Given the description of an element on the screen output the (x, y) to click on. 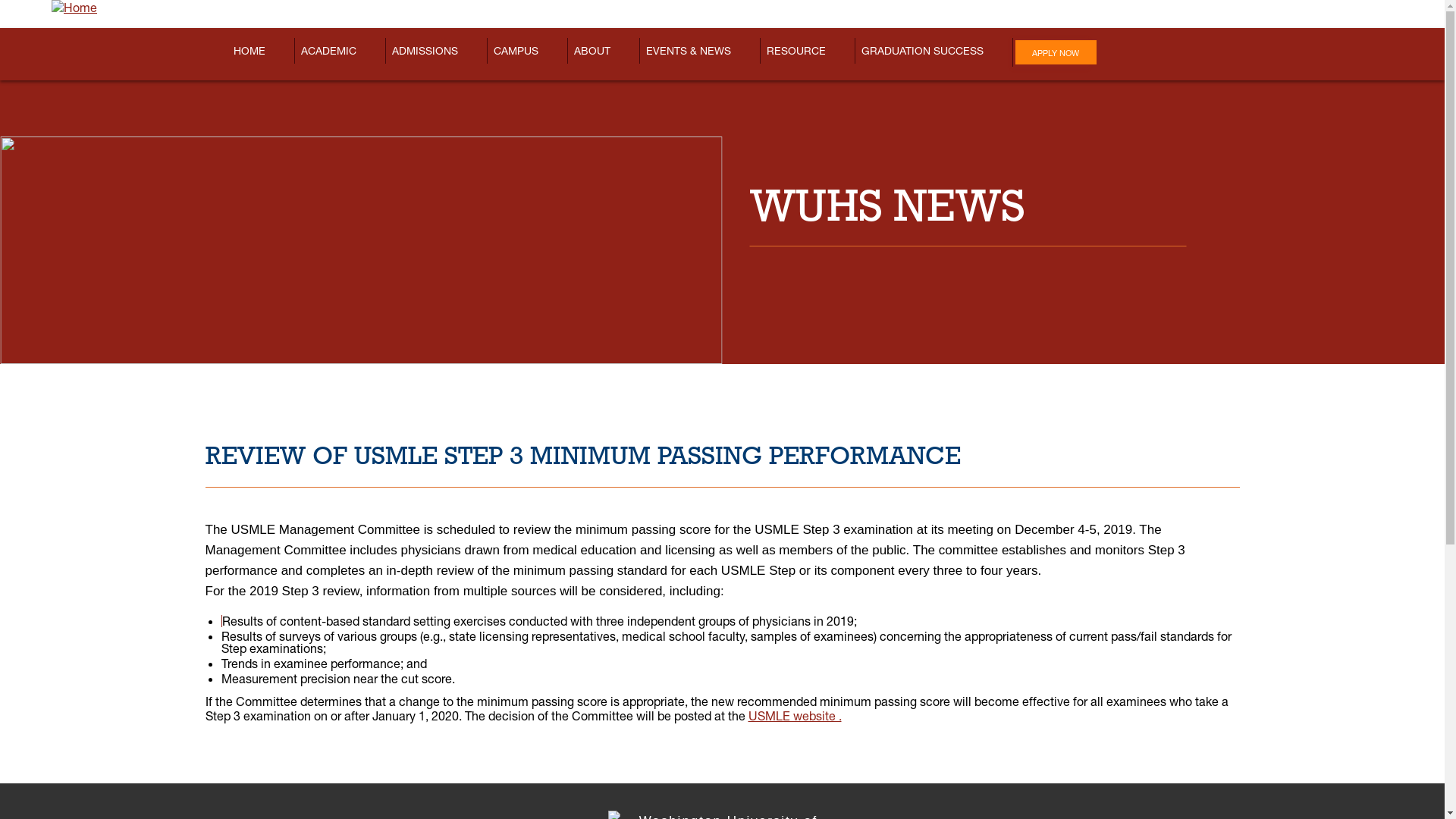
RESOURCE Element type: text (795, 50)
APPLY NOW Element type: text (1054, 52)
ABOUT Element type: text (592, 50)
USMLE website . Element type: text (793, 715)
HOME Element type: text (248, 50)
CAMPUS Element type: text (515, 50)
ACADEMIC Element type: text (328, 50)
EVENTS & NEWS Element type: text (687, 50)
Home Element type: hover (74, 7)
GRADUATION SUCCESS Element type: text (921, 50)
ADMISSIONS Element type: text (424, 50)
